Given the description of an element on the screen output the (x, y) to click on. 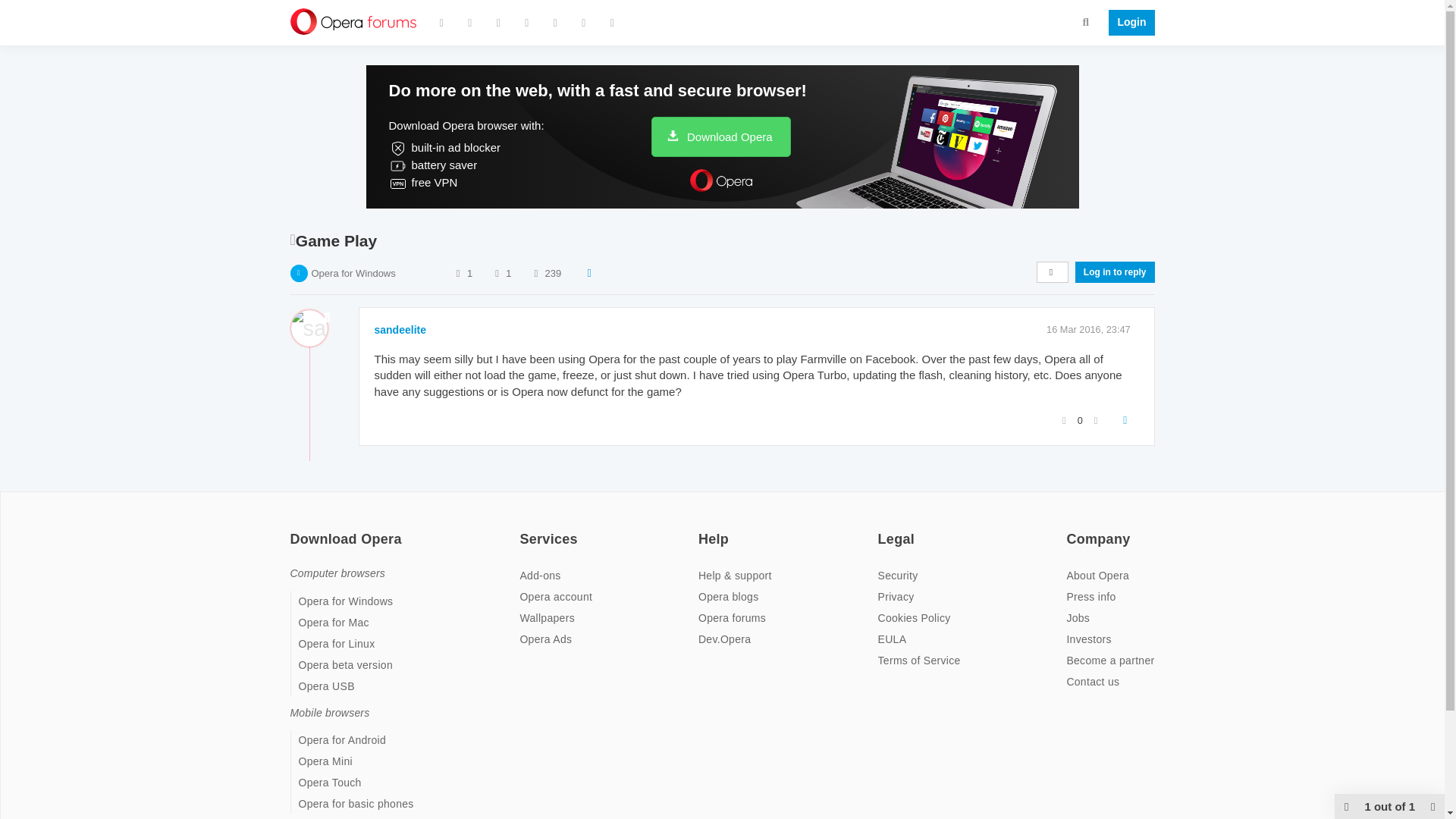
on (881, 528)
on (523, 528)
on (702, 528)
Search (1085, 21)
sandeelite (400, 329)
Login (1127, 22)
16 Mar 2016, 23:47 (1088, 328)
Download Opera (720, 137)
Log in to reply (1114, 271)
Opera for Windows (352, 273)
on (293, 528)
on (1070, 528)
